Given the description of an element on the screen output the (x, y) to click on. 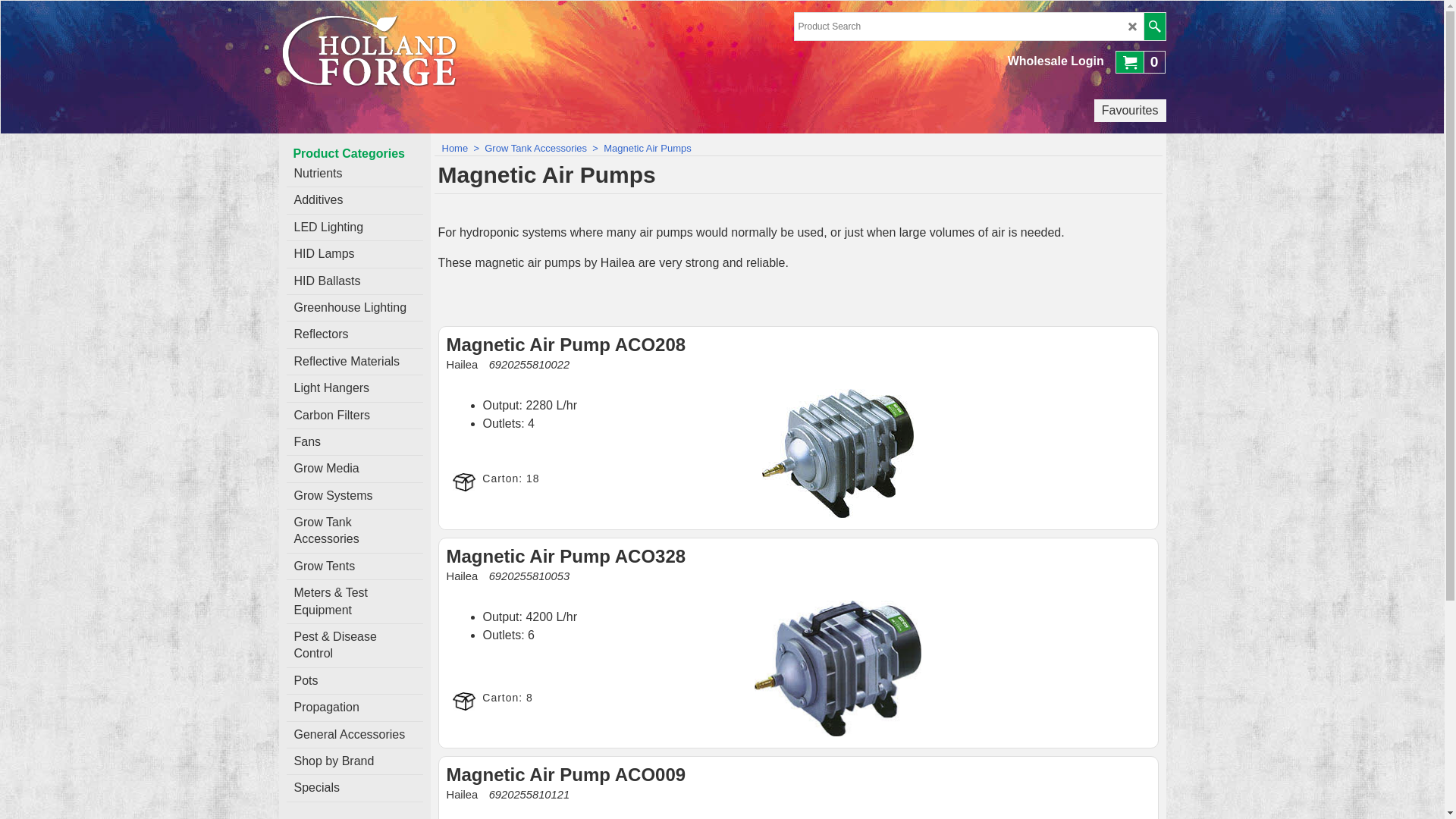
0 Element type: text (1140, 61)
Wholesale Login Element type: text (1055, 60)
General Accessories Element type: text (354, 734)
HID Lamps Element type: text (354, 254)
Reflectors Element type: text (354, 334)
Pest & Disease Control Element type: text (354, 646)
Grow Tank Accessories Element type: text (354, 531)
Specials Element type: text (354, 788)
Magnetic Air Pump Element type: hover (837, 453)
Fans Element type: text (354, 442)
LED Lighting Element type: text (354, 227)
Grow Tents Element type: text (354, 566)
Favourites Element type: text (1130, 110)
Additives Element type: text (354, 200)
Shop by Brand Element type: text (354, 761)
Meters & Test Equipment Element type: text (354, 602)
Home  >  Element type: text (462, 147)
Magnetic Air Pump Element type: hover (837, 668)
HID Ballasts Element type: text (354, 281)
Light Hangers Element type: text (354, 388)
Reflective Materials Element type: text (354, 361)
Nutrients Element type: text (354, 173)
Search Element type: hover (1154, 26)
Grow Media Element type: text (354, 468)
Greenhouse Lighting Element type: text (354, 307)
LD_CANCEL Element type: hover (1132, 26)
Grow Tank Accessories  >  Element type: text (543, 147)
Grow Systems Element type: text (354, 496)
Carbon Filters Element type: text (354, 415)
Pots Element type: text (354, 681)
Propagation Element type: text (354, 707)
